Given the description of an element on the screen output the (x, y) to click on. 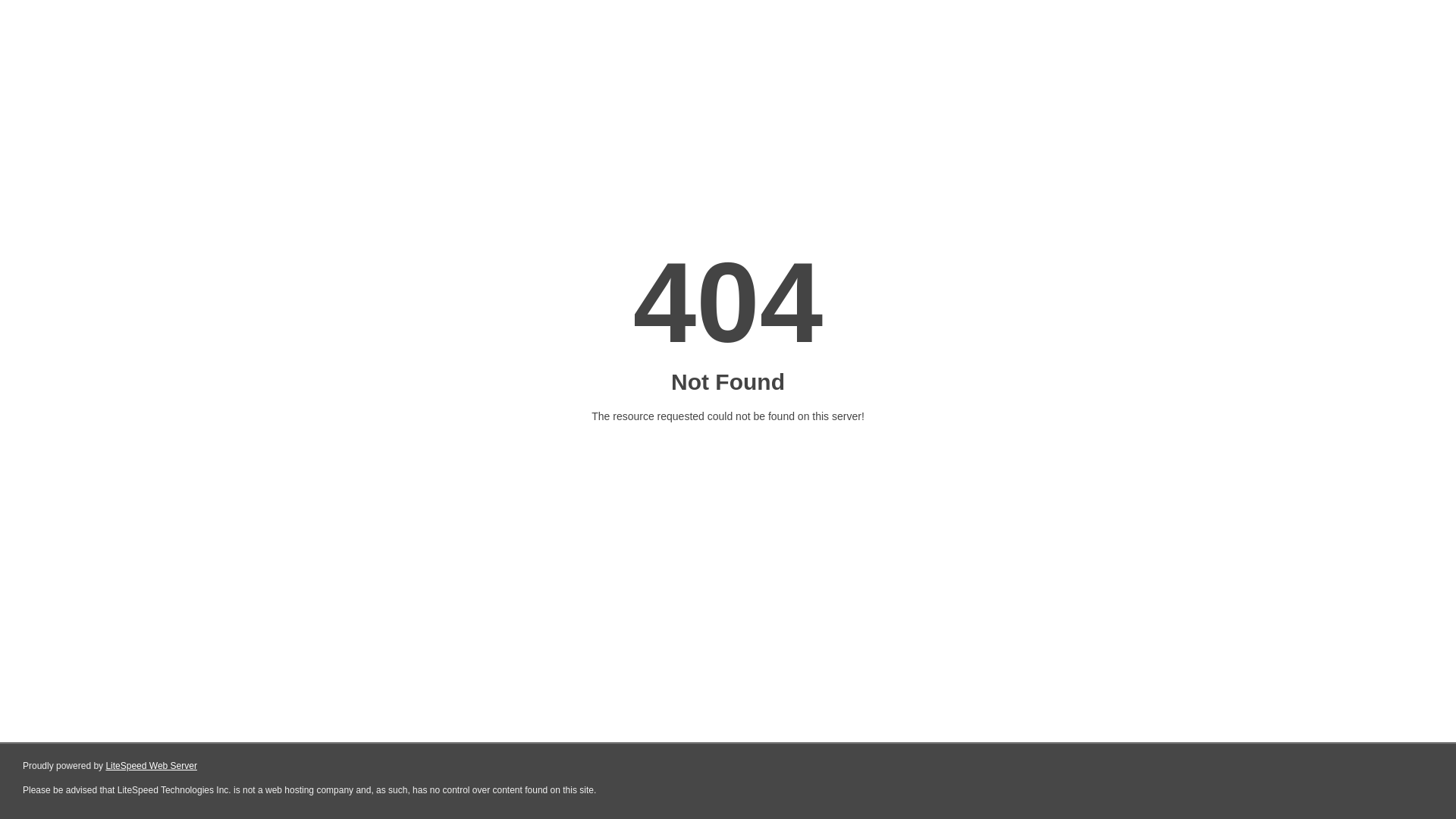
LiteSpeed Web Server Element type: text (151, 765)
